Given the description of an element on the screen output the (x, y) to click on. 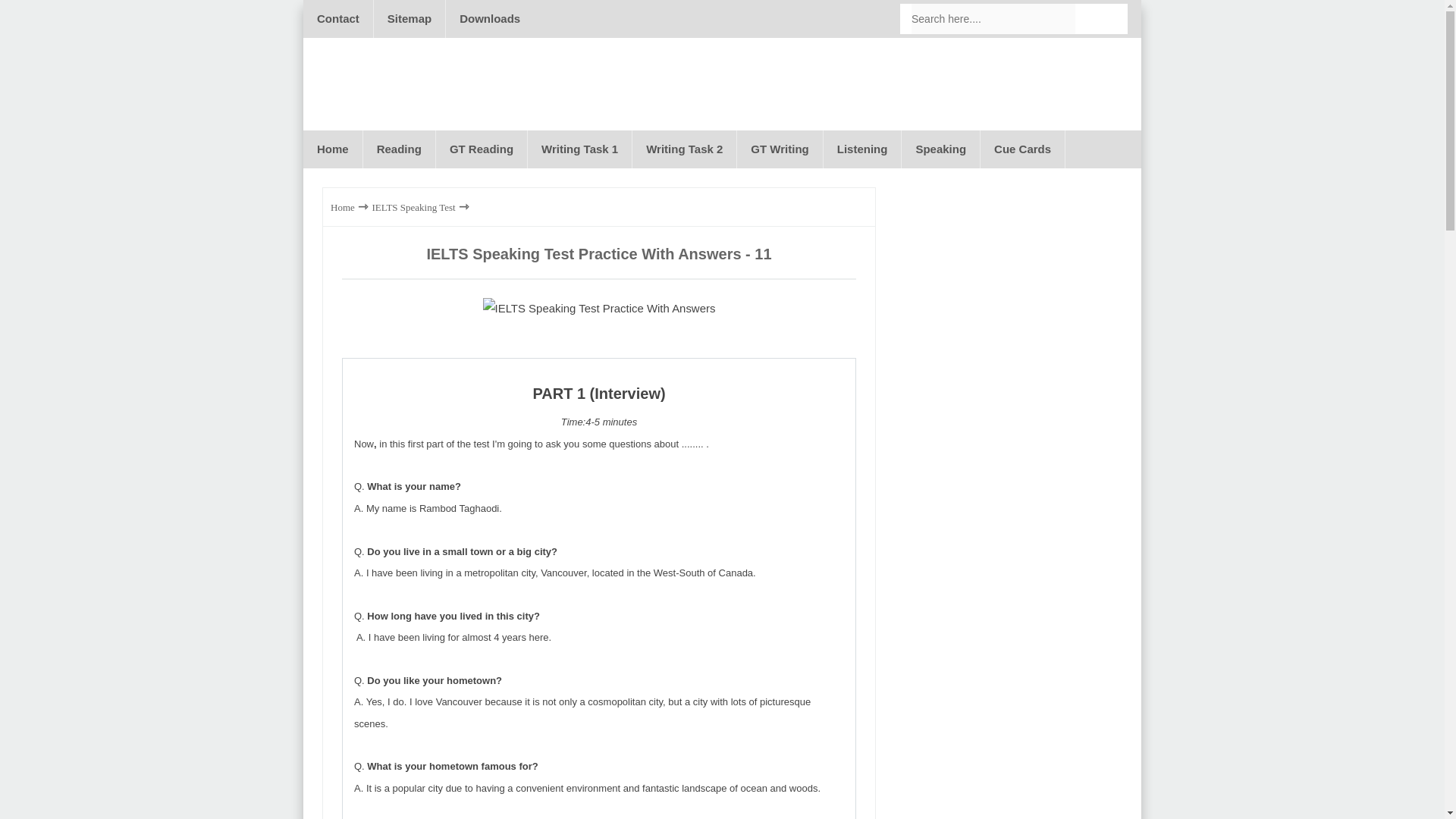
Speaking (940, 149)
permanent link (598, 253)
GT Reading (481, 149)
IELTS Speaking Test Practice With Answers - 11 (599, 308)
Writing Task 2 (683, 149)
Reading (398, 149)
Home (342, 206)
Cue Cards (1022, 149)
Search (1099, 19)
Downloads (489, 18)
